Given the description of an element on the screen output the (x, y) to click on. 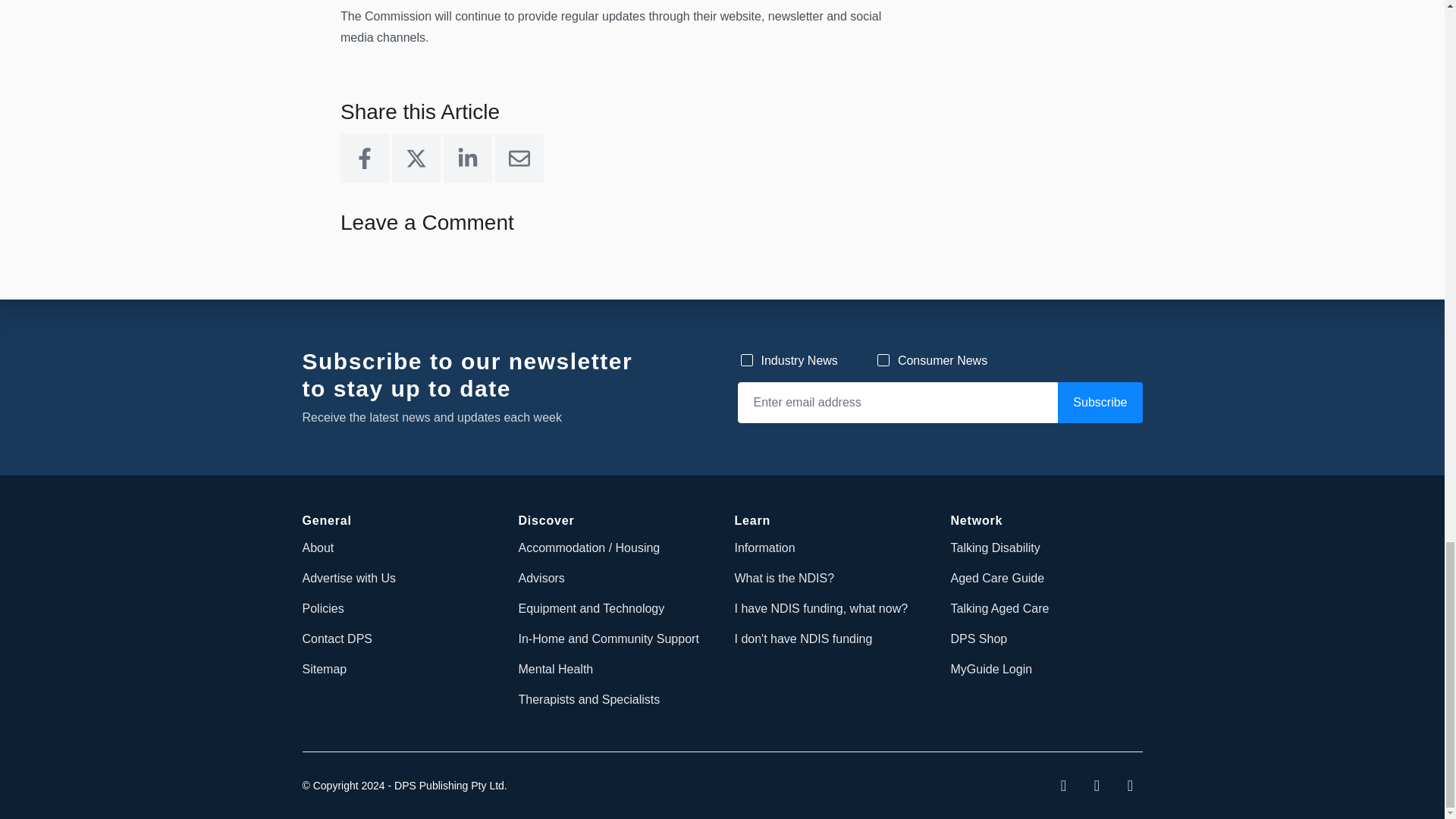
LinkedIn (468, 158)
X (416, 158)
Email (519, 158)
Facebook (364, 158)
